Given the description of an element on the screen output the (x, y) to click on. 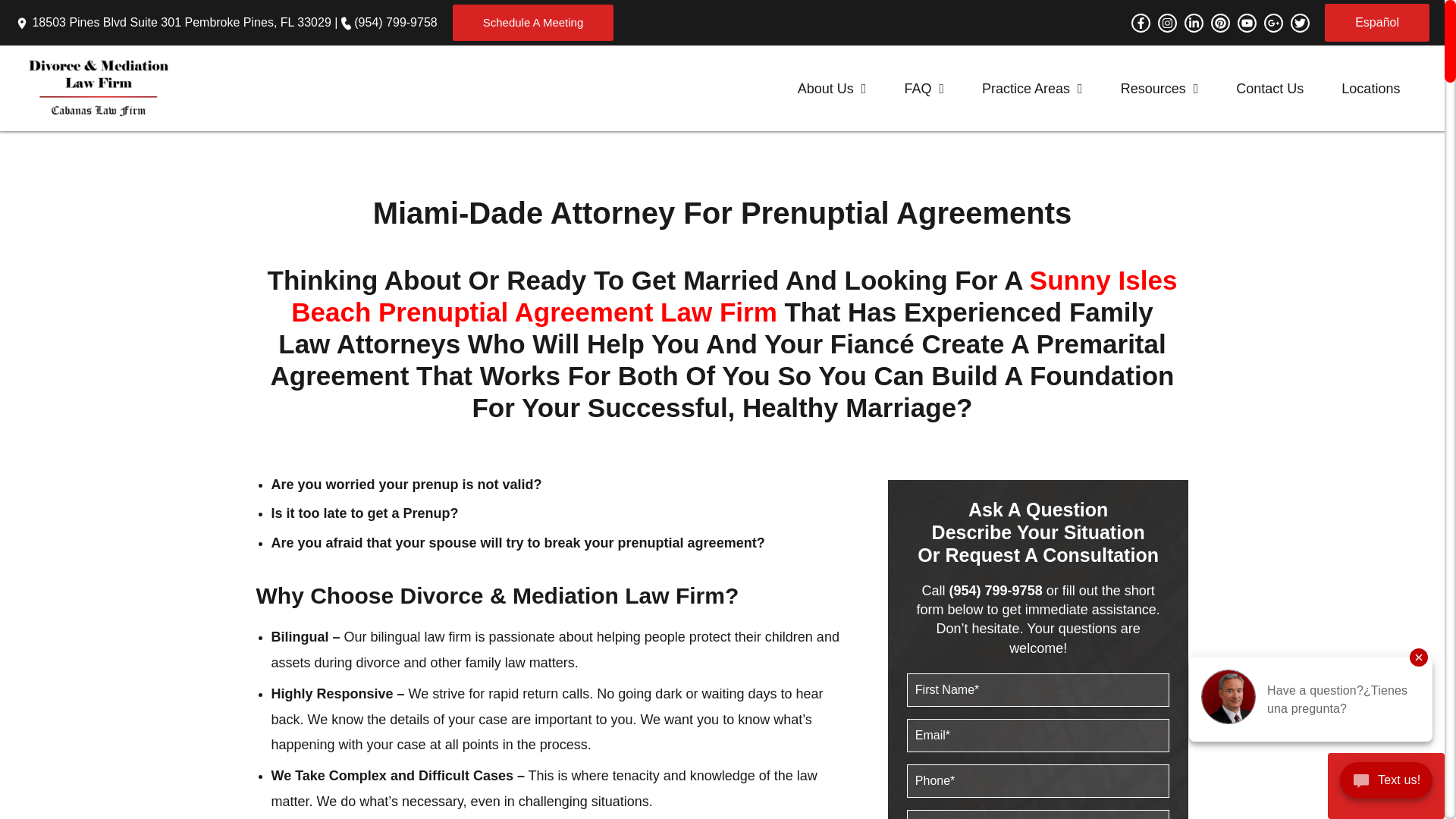
Schedule A Meeting (533, 22)
18503 Pines Blvd Suite 301 Pembroke Pines, FL 33029 (181, 21)
